Given the description of an element on the screen output the (x, y) to click on. 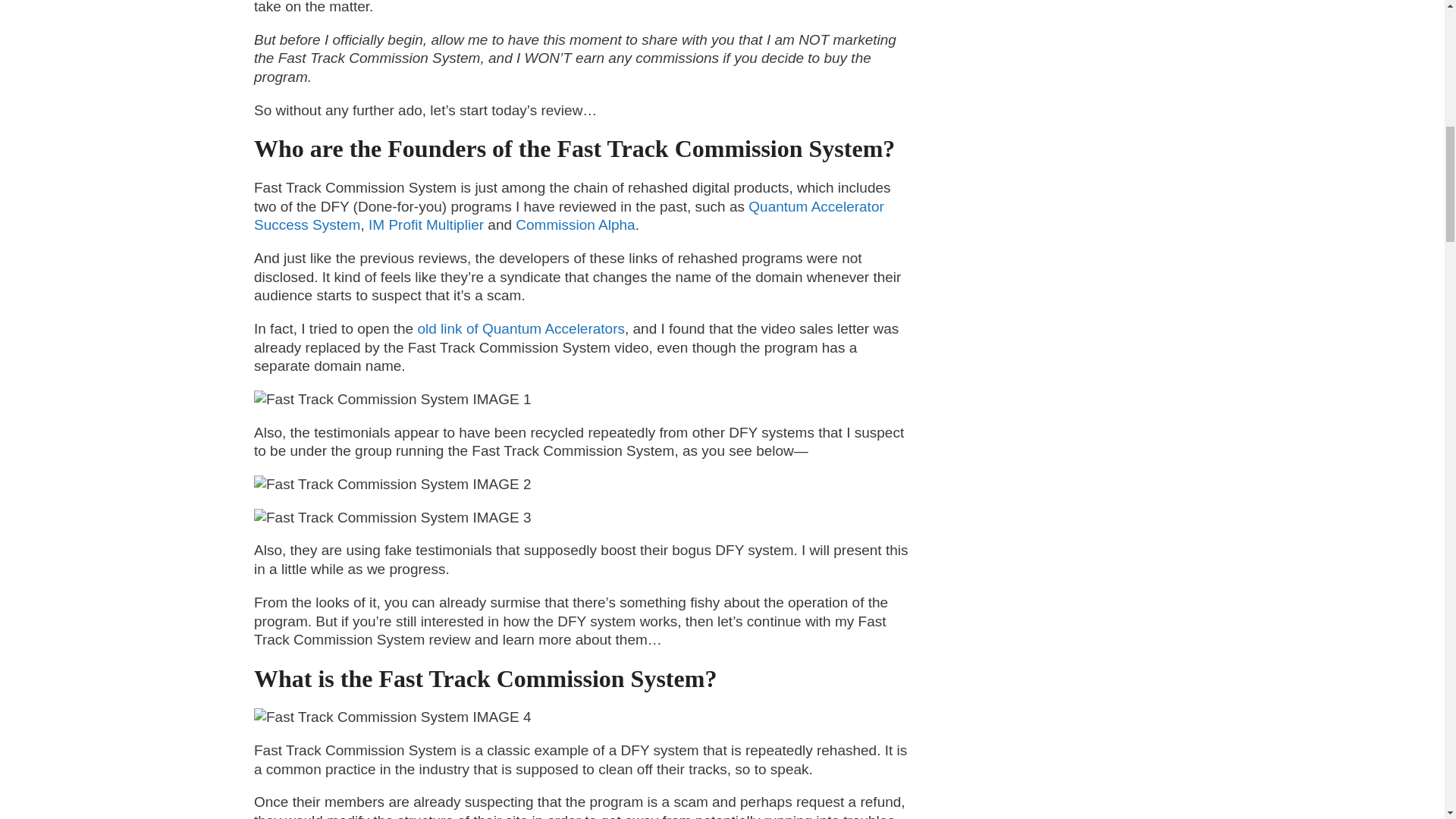
Quantum Accelerator Success System (568, 216)
old link of Quantum Accelerators (520, 328)
Scroll back to top (1406, 720)
Commission Alpha (573, 224)
IM Profit Multiplier (425, 224)
